Given the description of an element on the screen output the (x, y) to click on. 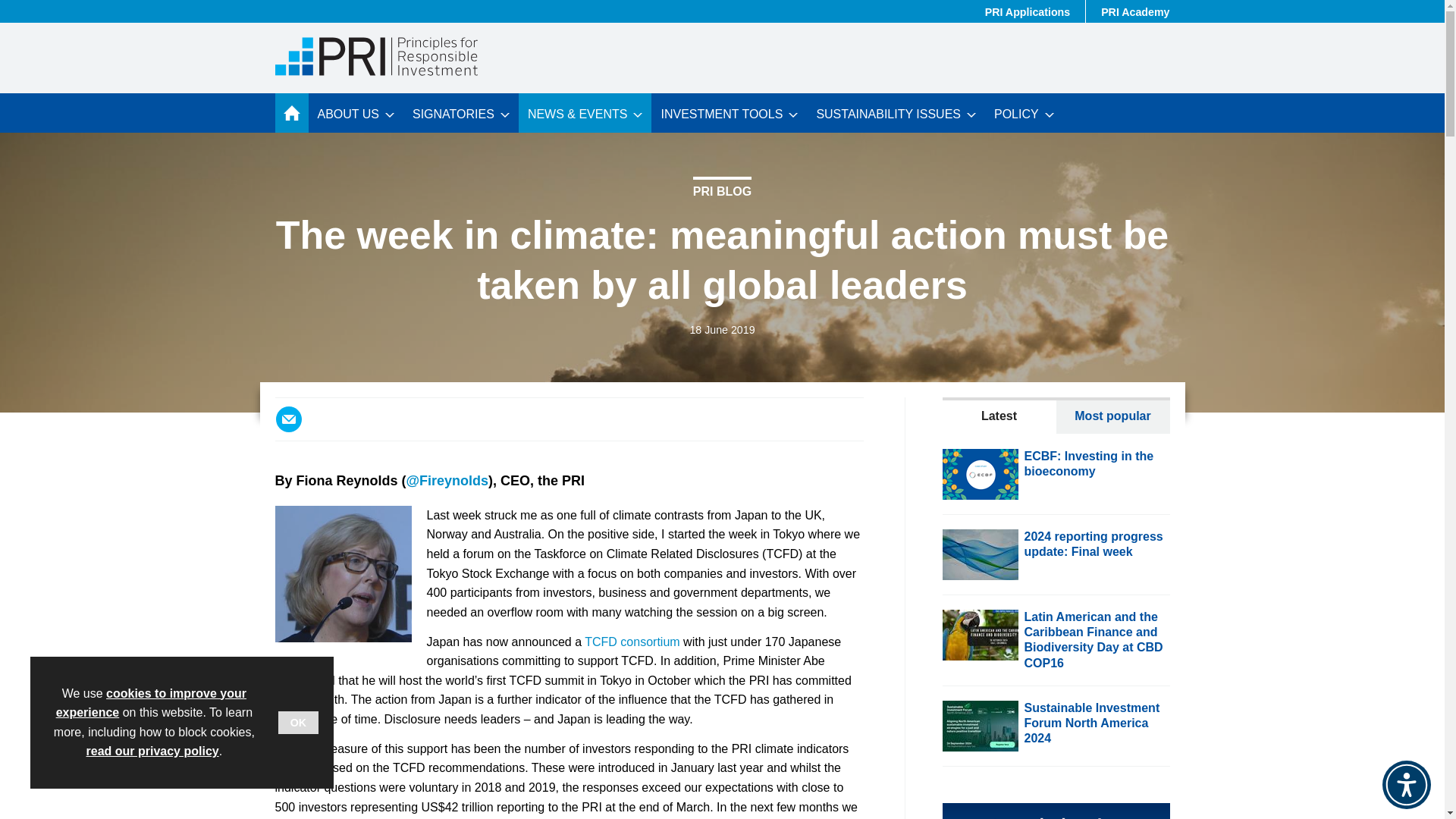
read our privacy policy (152, 750)
Accessibility Menu (1406, 784)
cookies to improve your experience (151, 703)
OK (298, 722)
Email this article (288, 419)
PRI Academy (1135, 11)
PRI Applications (1026, 11)
